Given the description of an element on the screen output the (x, y) to click on. 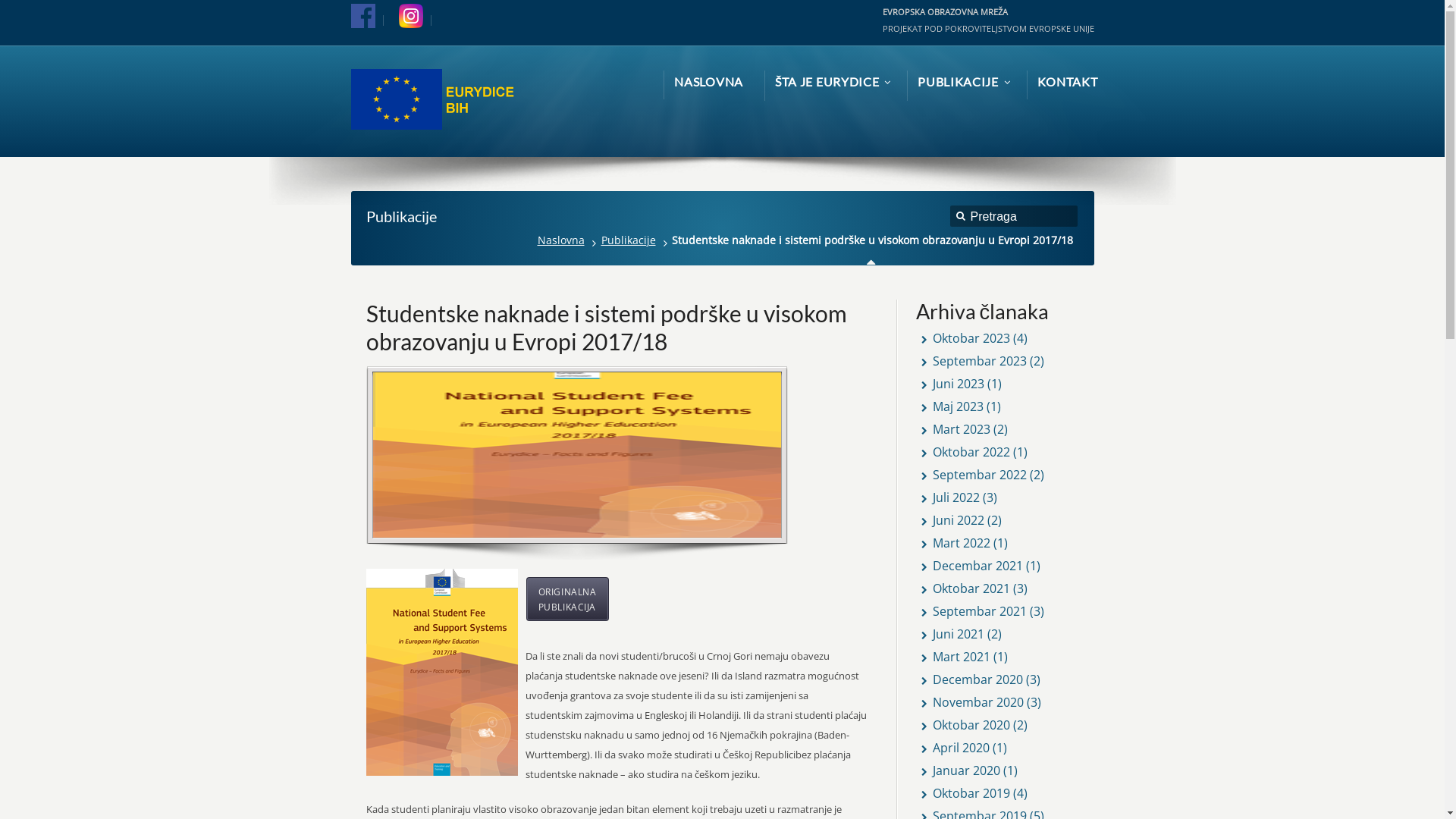
Juni 2023 Element type: text (958, 383)
Oktobar 2022 Element type: text (971, 451)
Oktobar 2020 Element type: text (971, 724)
Decembar 2020 Element type: text (977, 679)
NASLOVNA Element type: text (708, 81)
Septembar 2023 Element type: text (979, 360)
Naslovna Element type: text (564, 239)
Oktobar 2019 Element type: text (971, 792)
Juni 2021 Element type: text (958, 633)
search Element type: text (960, 218)
Septembar 2021 Element type: text (979, 610)
Juli 2022 Element type: text (955, 497)
Juni 2022 Element type: text (958, 519)
Novembar 2020 Element type: text (977, 701)
Oktobar 2023 Element type: text (971, 337)
Publikacije Element type: text (631, 239)
PUBLIKACIJE Element type: text (960, 82)
Mart 2021 Element type: text (961, 656)
Decembar 2021 Element type: text (977, 565)
Januar 2020 Element type: text (966, 770)
Septembar 2022 Element type: text (979, 474)
Mart 2022 Element type: text (961, 542)
Oktobar 2021 Element type: text (971, 588)
April 2020 Element type: text (960, 747)
ORIGINALNA
PUBLIKACIJA Element type: text (567, 598)
Maj 2023 Element type: text (957, 406)
KONTAKT Element type: text (1067, 81)
Mart 2023 Element type: text (961, 428)
